Given the description of an element on the screen output the (x, y) to click on. 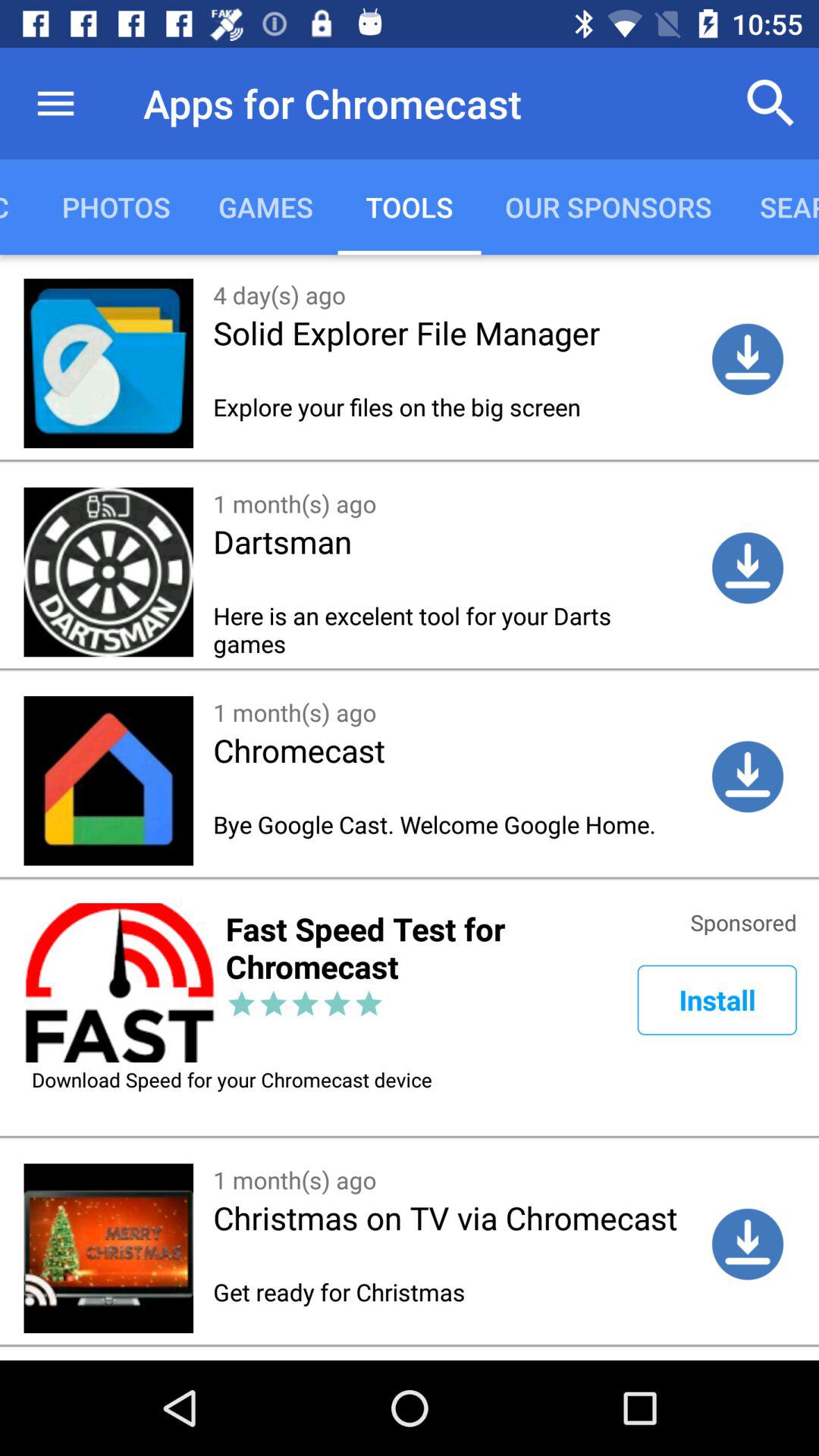
click icon next to the apps for chromecast item (55, 103)
